Given the description of an element on the screen output the (x, y) to click on. 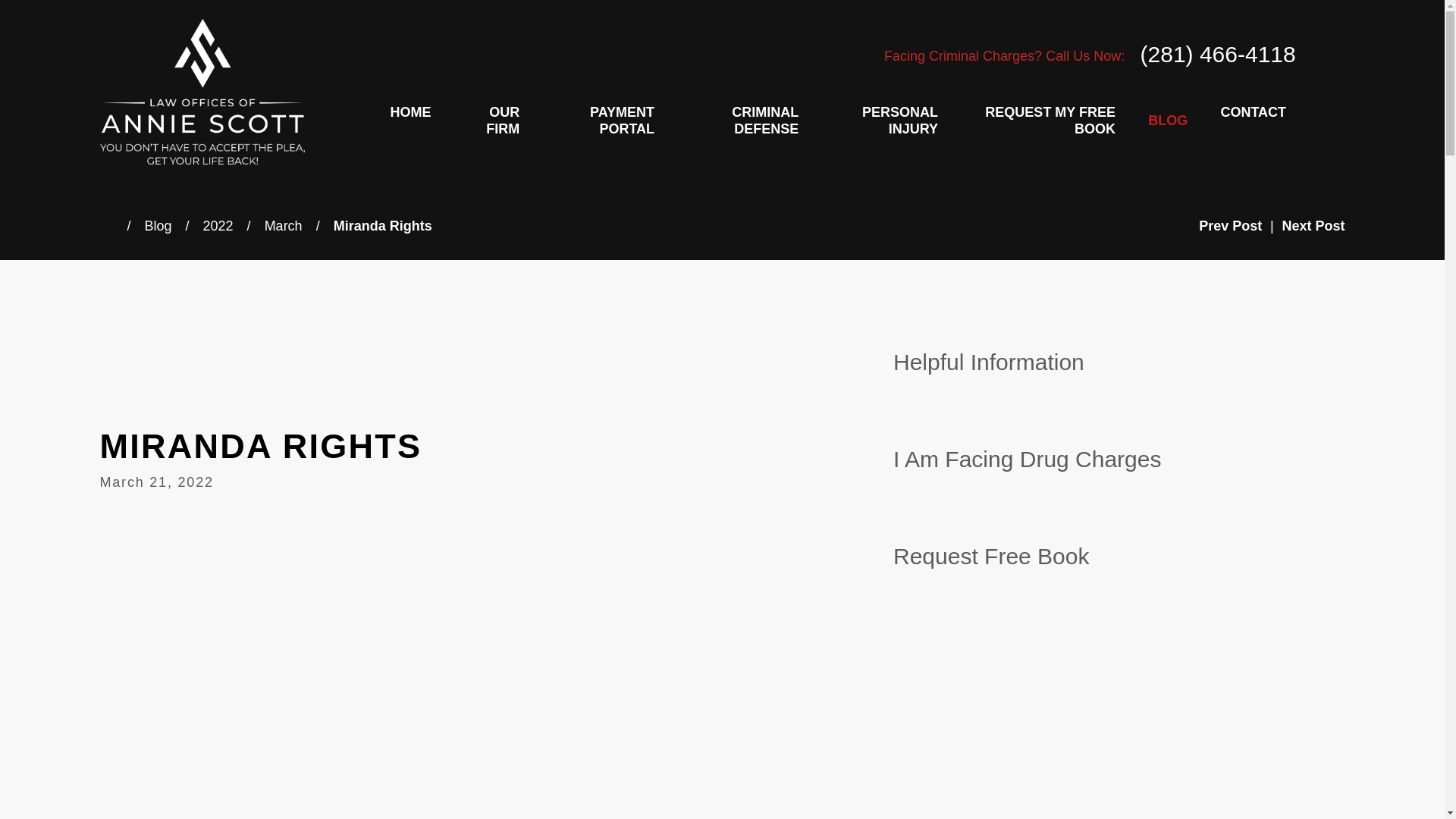
Go Home (114, 225)
Law Office of Annie Scott (202, 91)
CRIMINAL DEFENSE (742, 121)
OUR FIRM (491, 121)
PAYMENT PORTAL (602, 121)
Open the accessibility options menu (31, 786)
